Given the description of an element on the screen output the (x, y) to click on. 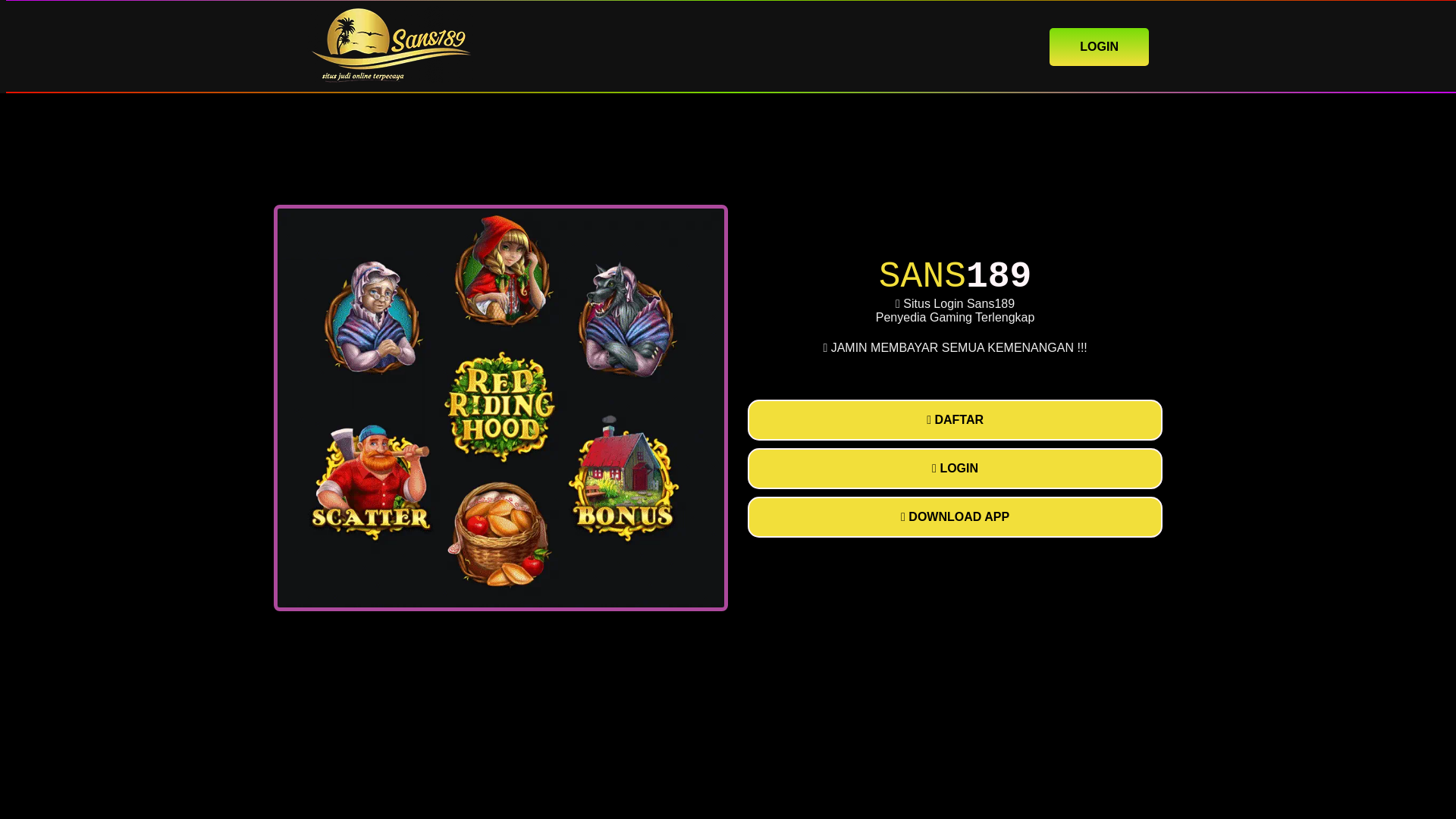
LOGIN (954, 467)
DAFTAR (954, 419)
DOWNLOAD APP (954, 516)
LOGIN (1098, 46)
